Given the description of an element on the screen output the (x, y) to click on. 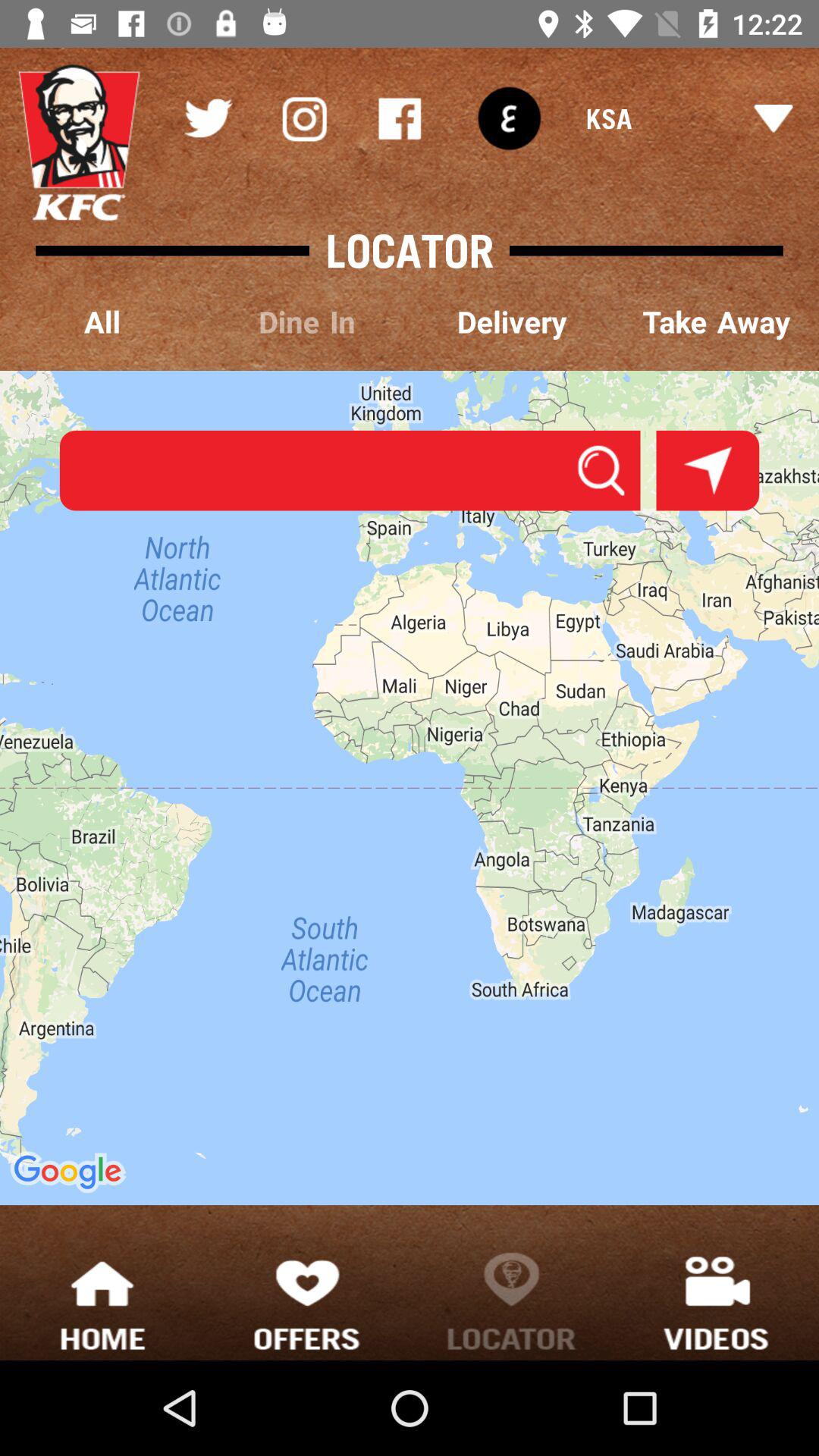
launch the item to the left of take away (511, 322)
